Given the description of an element on the screen output the (x, y) to click on. 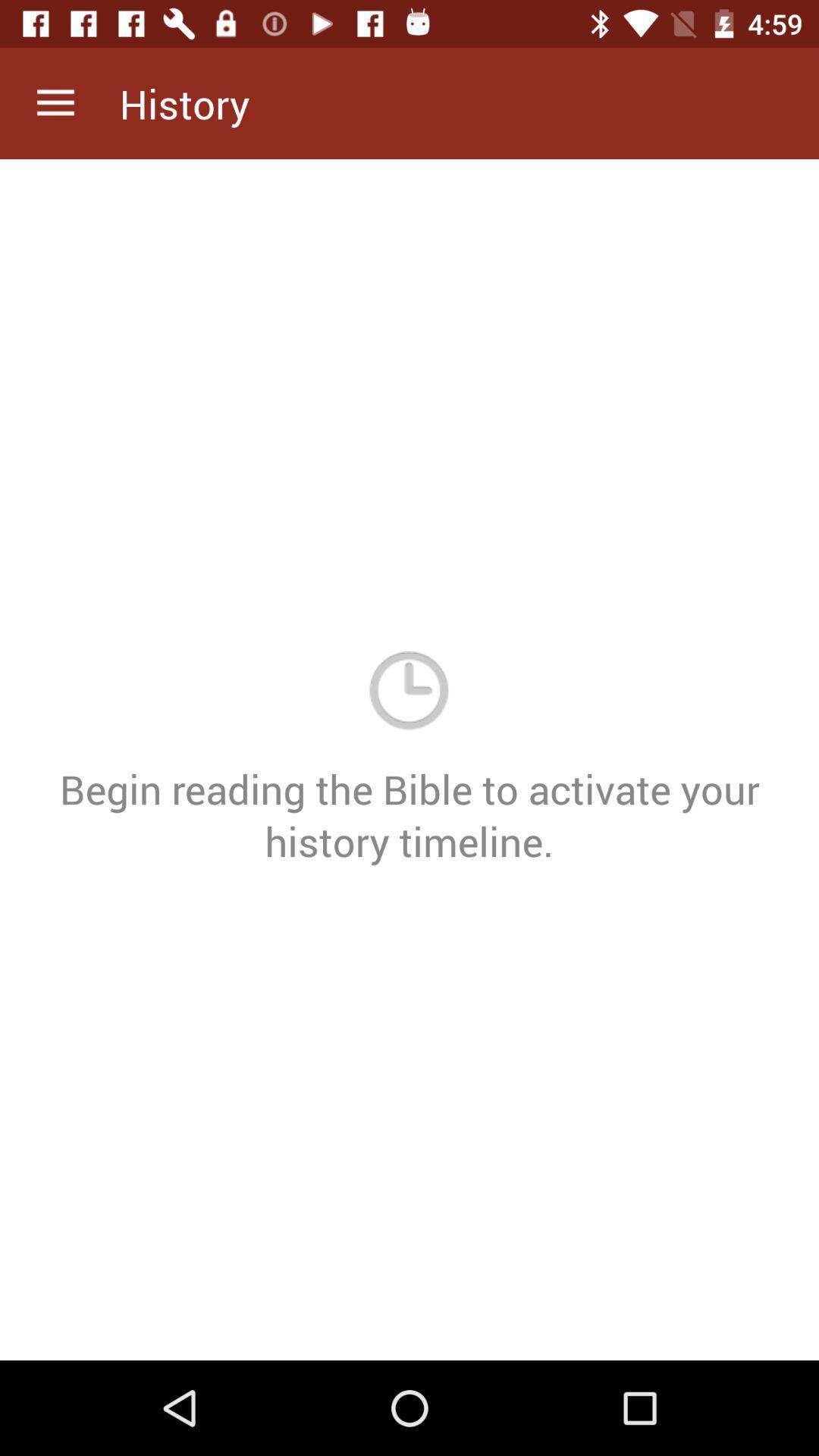
tap the icon to the left of the history icon (55, 103)
